Given the description of an element on the screen output the (x, y) to click on. 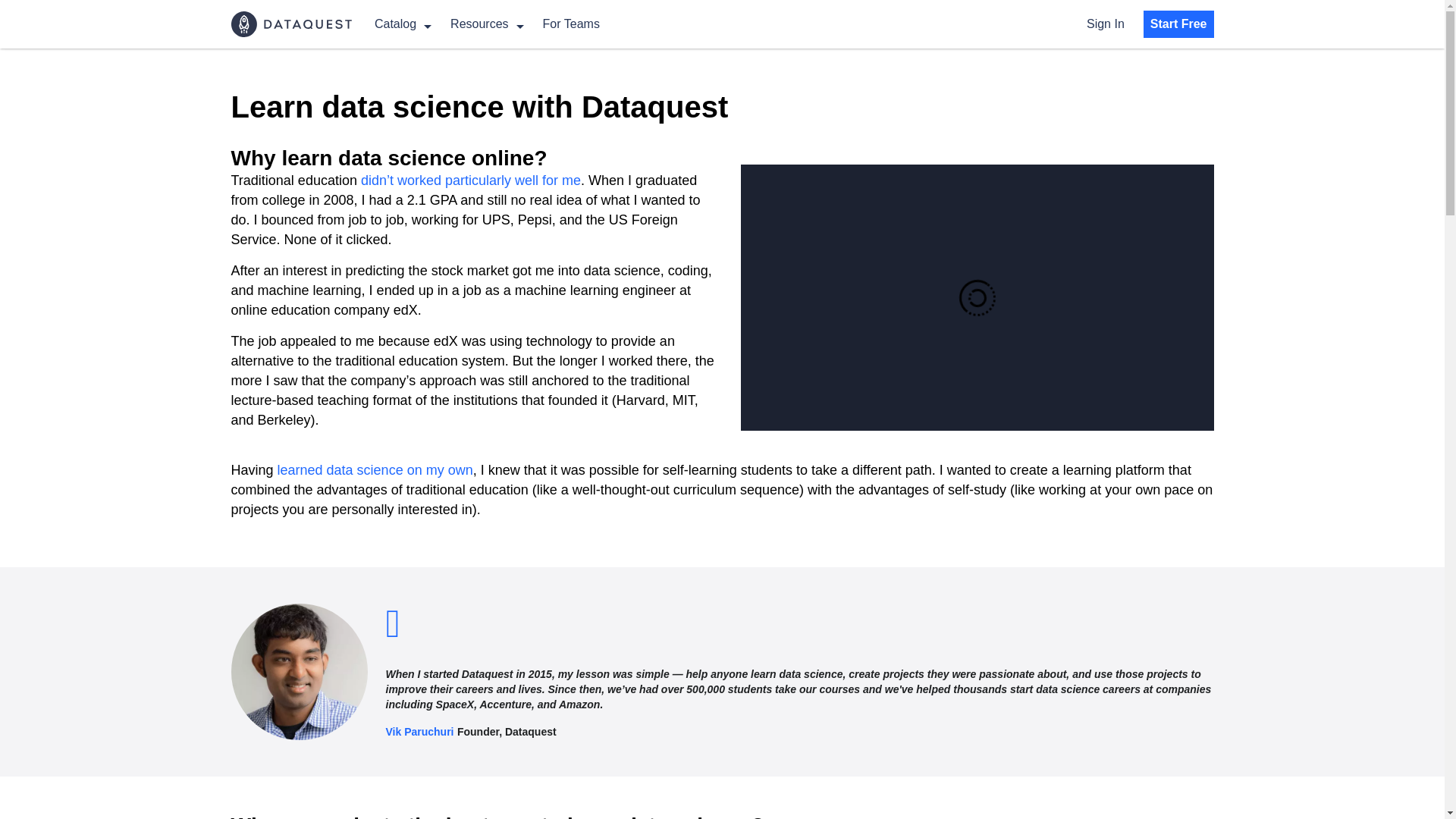
Video Featured Image (975, 297)
DQ-Logo (290, 23)
Sign In (1105, 23)
Start Free (1178, 23)
learned data science on my own (375, 469)
Resources (485, 23)
For Teams (571, 23)
Catalog (402, 23)
Vik (298, 671)
